Given the description of an element on the screen output the (x, y) to click on. 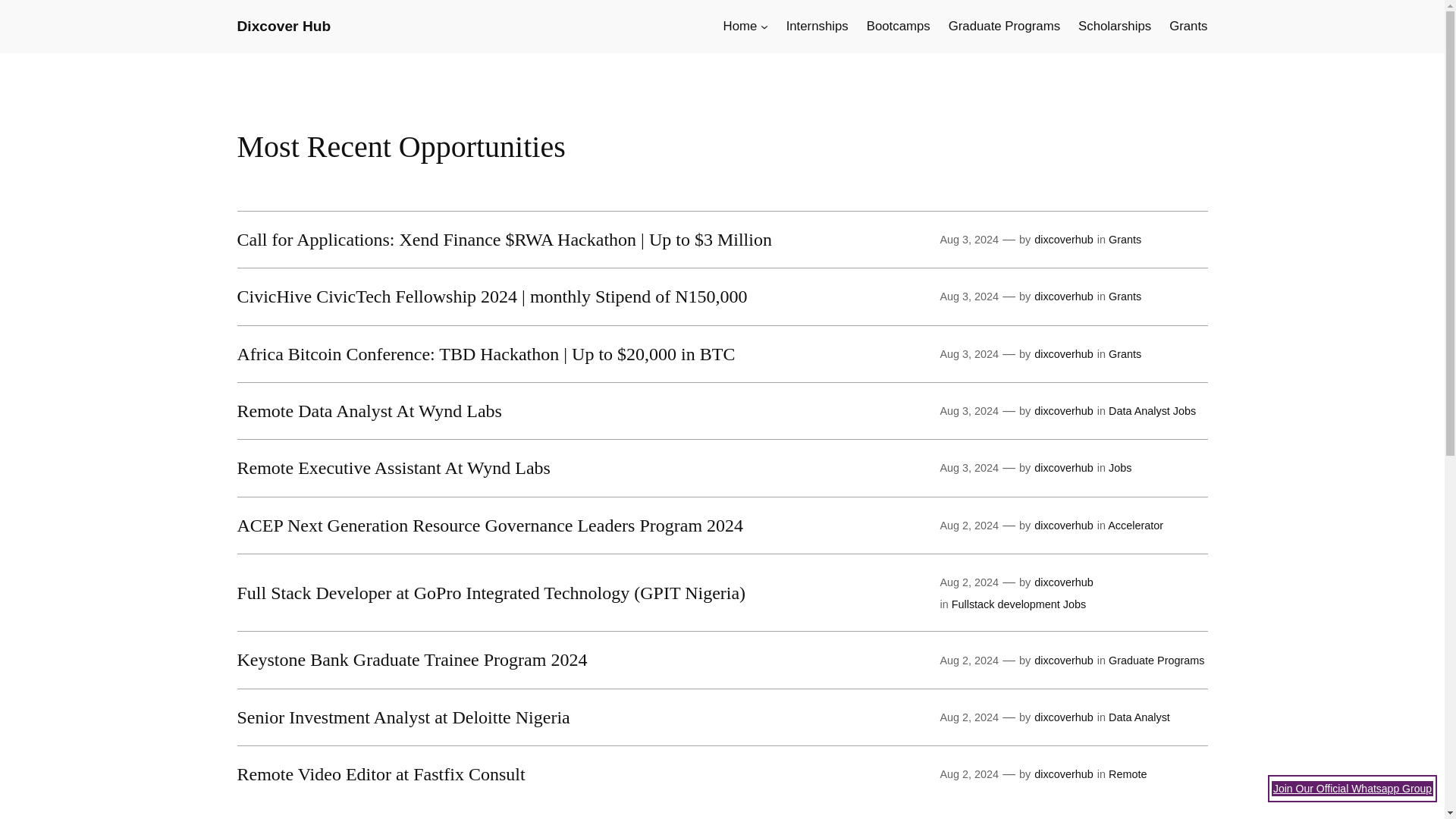
Aug 3, 2024 (968, 296)
Join Our Official Whatsapp Group (1351, 788)
Internships (817, 26)
Scholarships (1114, 26)
Dixcover Hub (282, 26)
Aug 3, 2024 (968, 410)
Remote Executive Assistant At Wynd Labs (392, 467)
Aug 3, 2024 (968, 354)
Home (740, 26)
Grants (1124, 354)
